Given the description of an element on the screen output the (x, y) to click on. 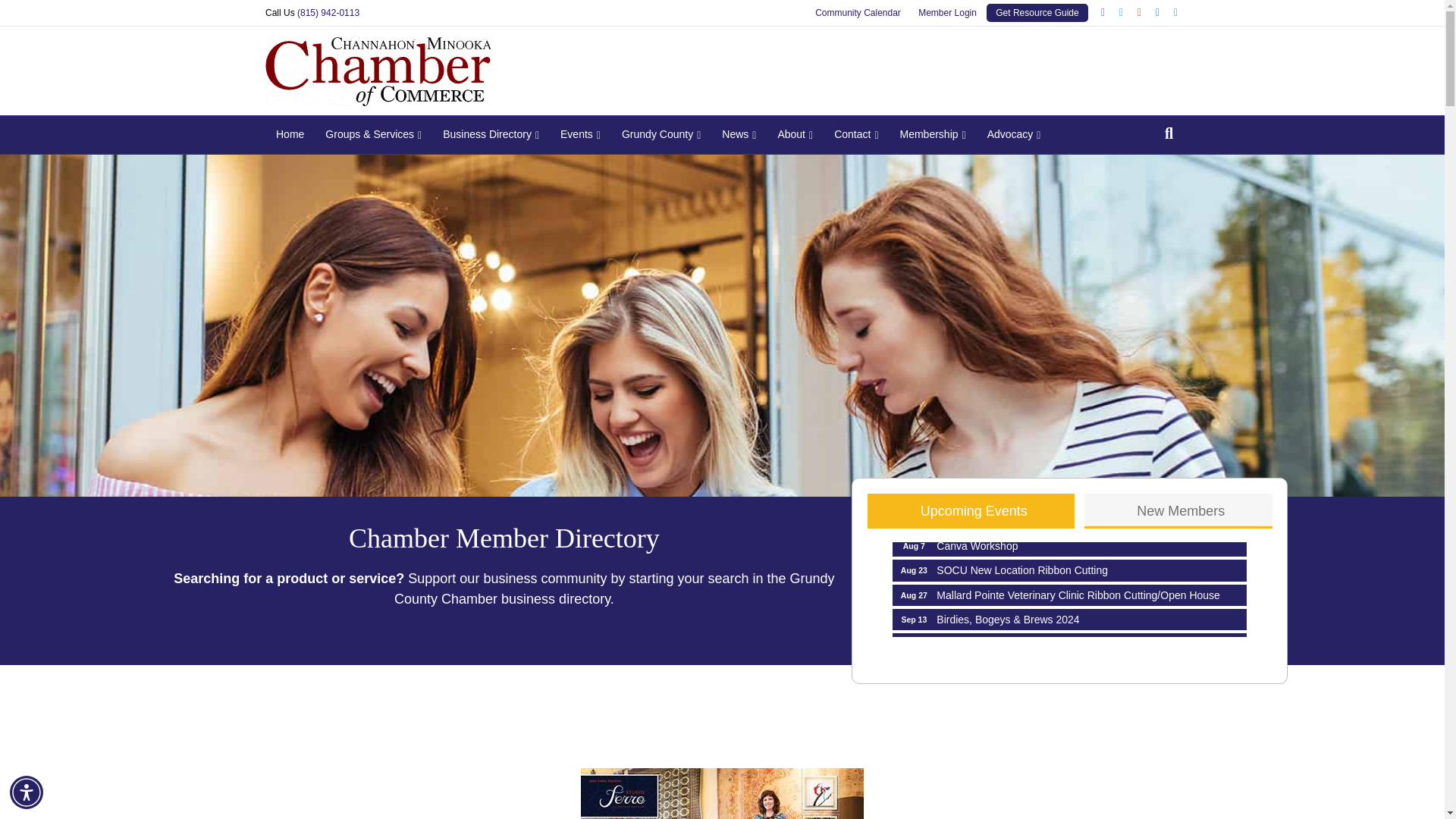
Sep 13 (914, 619)
Aug 27 (914, 594)
Aug 23 (914, 570)
Accessibility Menu (26, 792)
SOCU New Location Ribbon Cutting (1069, 569)
Sep 19 (914, 643)
Canva Workshop (1069, 545)
Studio Ferro (1069, 545)
Aug 7 (1069, 569)
